Given the description of an element on the screen output the (x, y) to click on. 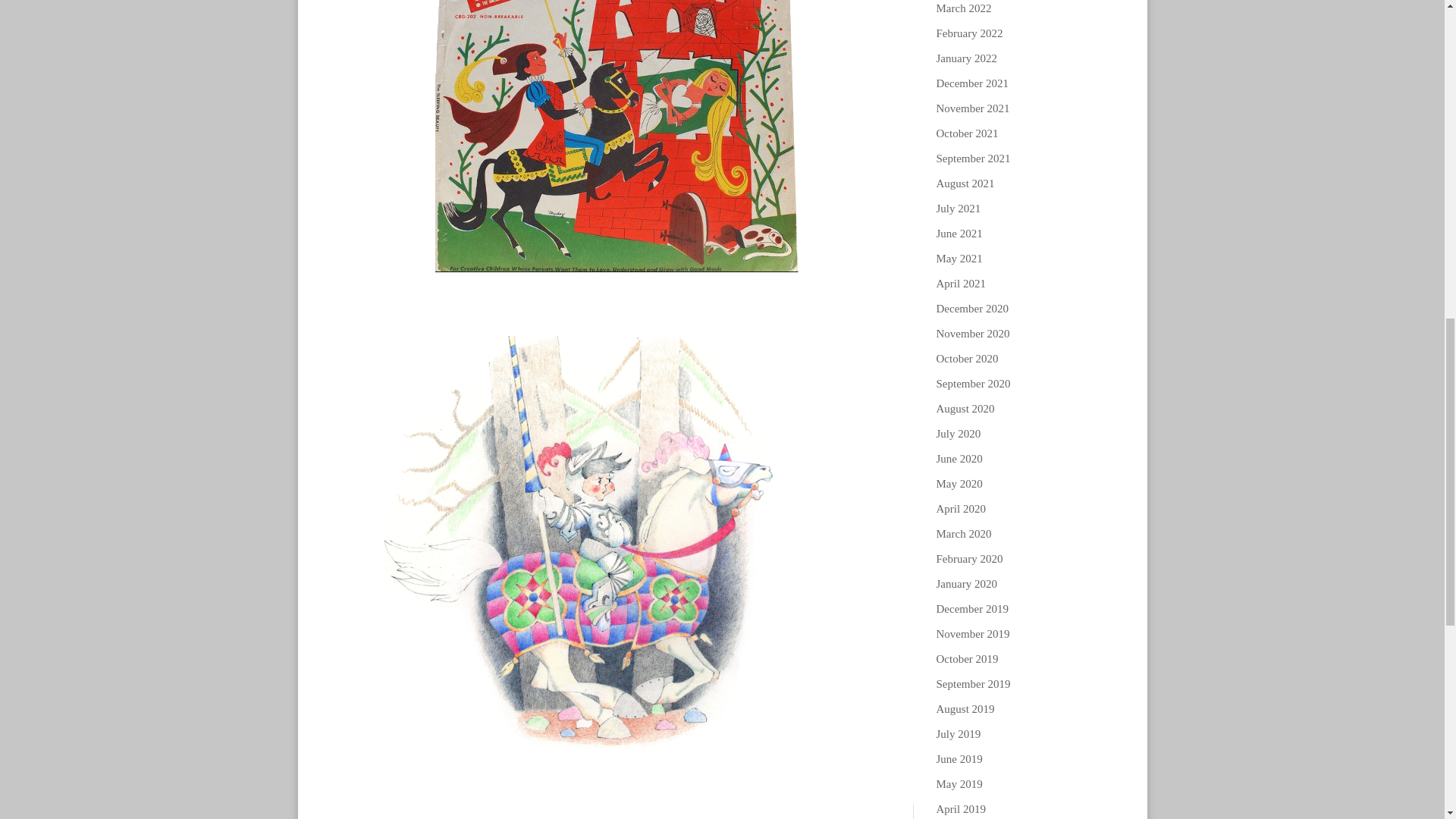
August 2021 (965, 183)
February 2022 (969, 33)
January 2022 (965, 58)
October 2021 (966, 133)
December 2021 (971, 82)
November 2021 (972, 108)
May 2021 (958, 258)
September 2021 (973, 158)
March 2022 (963, 8)
